Given the description of an element on the screen output the (x, y) to click on. 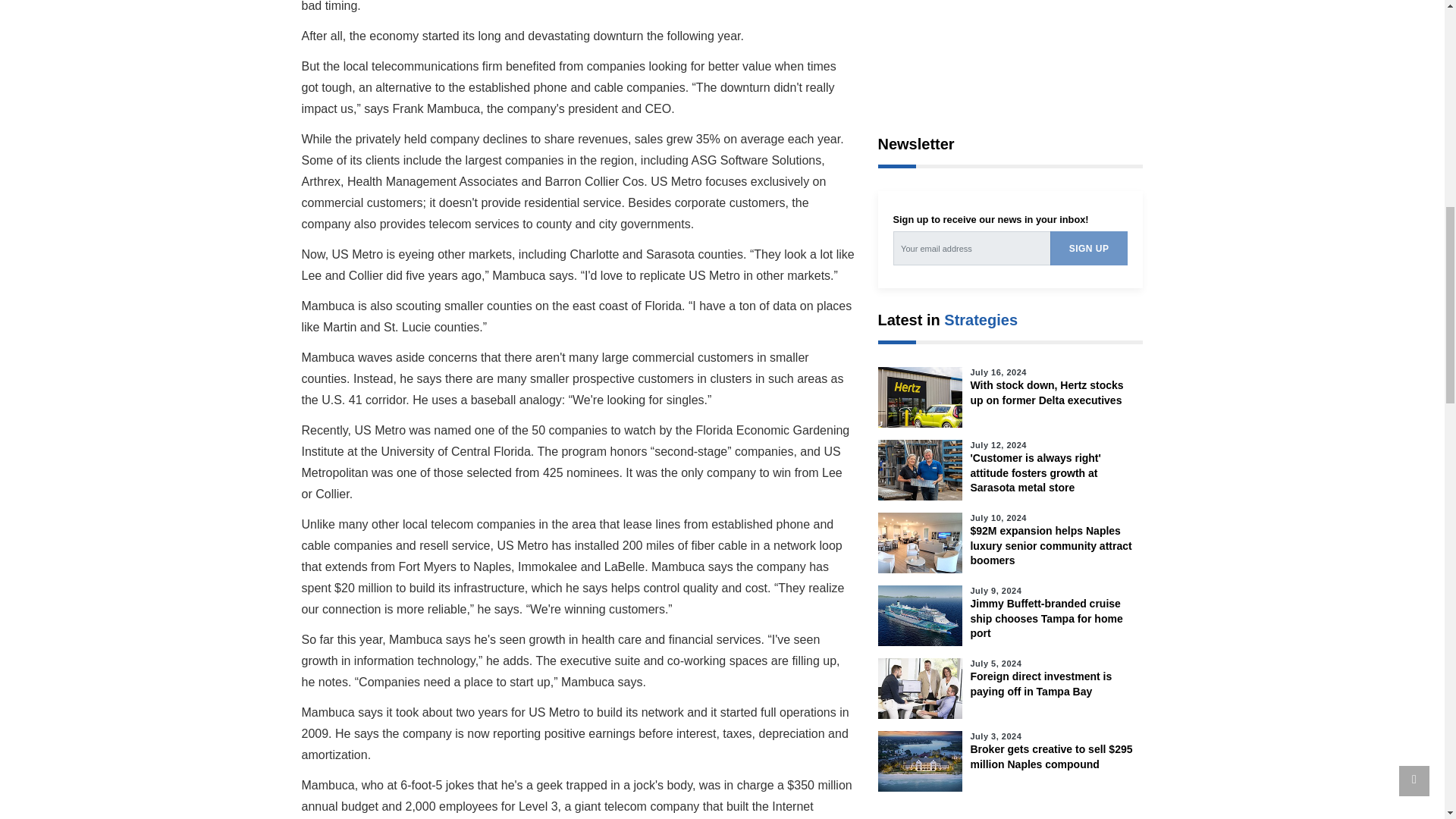
3rd party ad content (1010, 50)
